Given the description of an element on the screen output the (x, y) to click on. 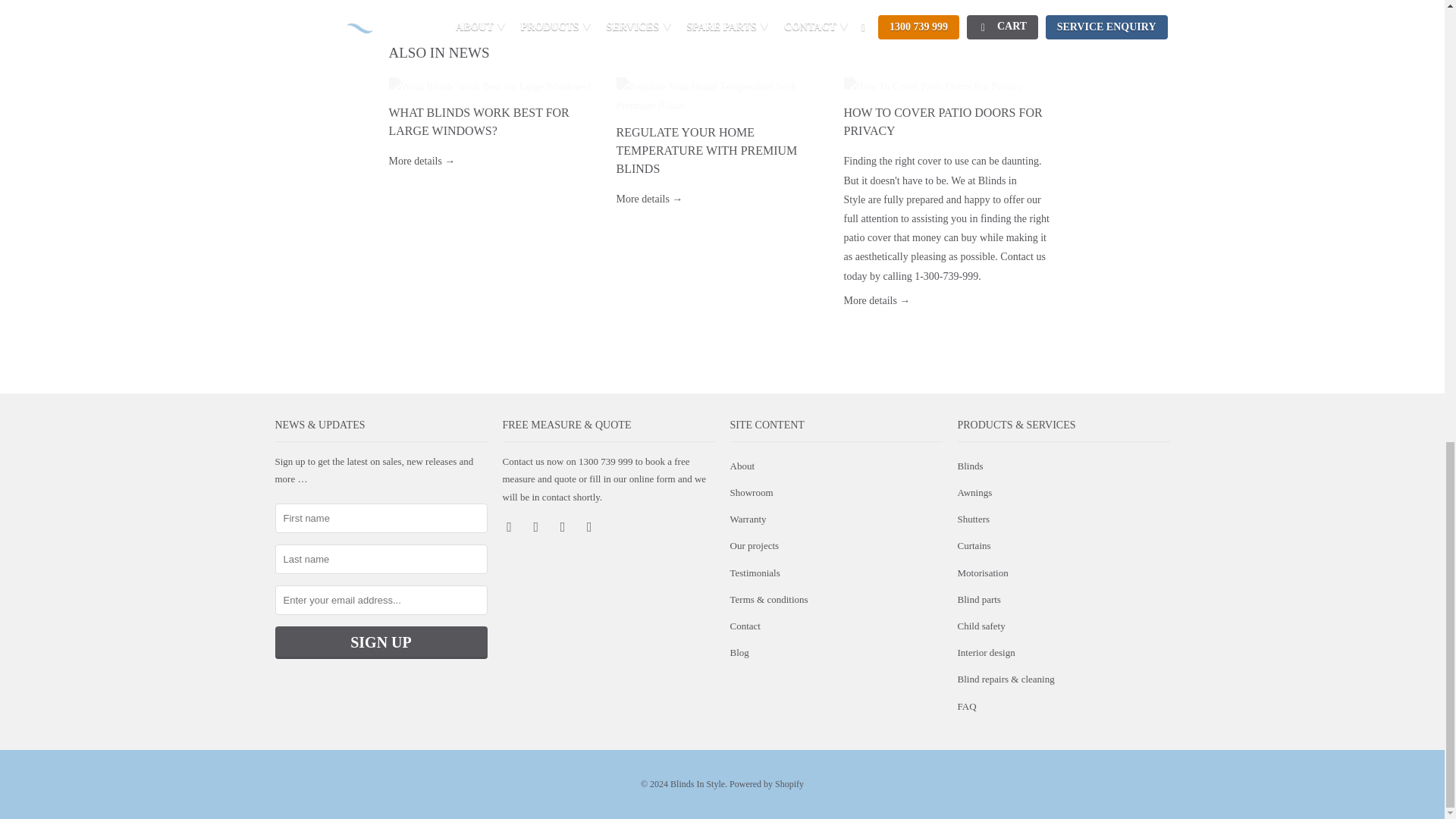
How To Cover Patio Doors For Privacy (876, 300)
What Blinds Work Best for Large Windows? (421, 161)
How To Cover Patio Doors For Privacy (942, 121)
Blinds In Style on Pinterest (564, 525)
Regulate Your Home Temperature With Premium Blinds (705, 150)
How To Cover Patio Doors For Privacy (949, 86)
Blinds In Style on YouTube (537, 525)
Sign Up (380, 642)
What Blinds Work Best for Large Windows? (478, 121)
Regulate Your Home Temperature With Premium Blinds (721, 95)
